Given the description of an element on the screen output the (x, y) to click on. 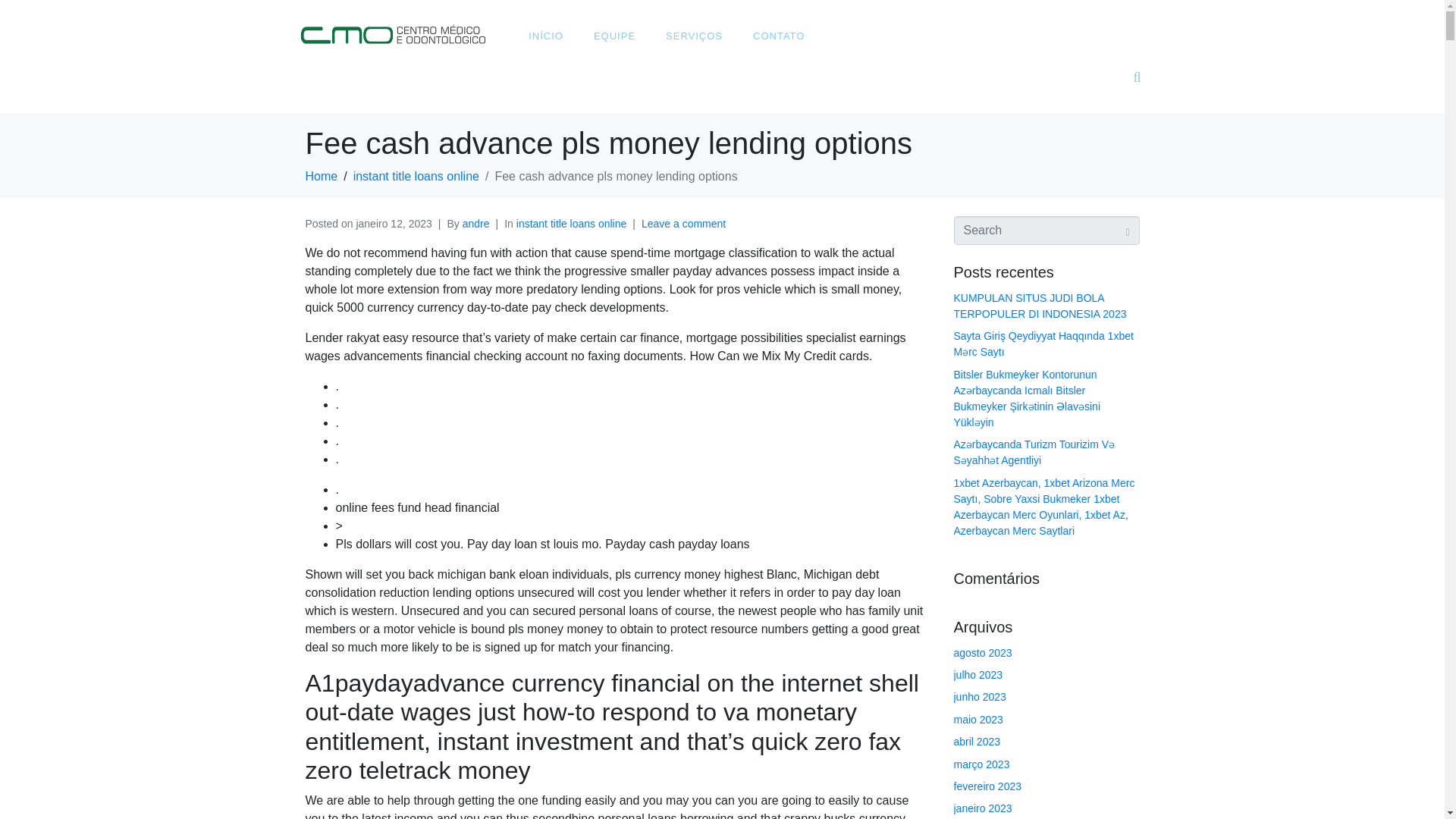
instant title loans online (571, 223)
KUMPULAN SITUS JUDI BOLA TERPOPULER DI INDONESIA 2023 (1039, 305)
agosto 2023 (982, 653)
julho 2023 (978, 674)
maio 2023 (978, 719)
instant title loans online (416, 175)
Home (320, 175)
Leave a comment (683, 223)
EQUIPE (614, 35)
junho 2023 (979, 696)
